Given the description of an element on the screen output the (x, y) to click on. 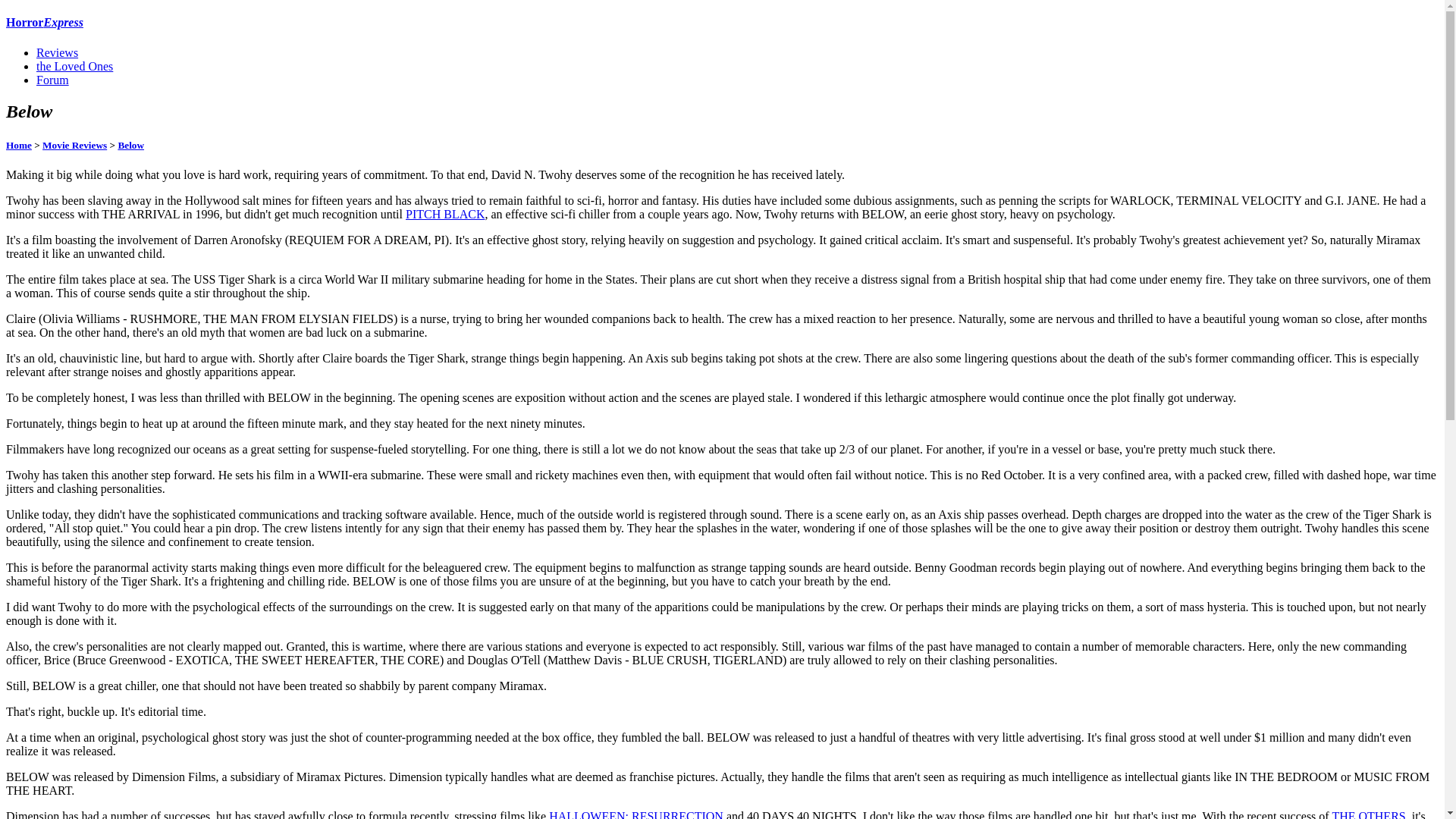
HALLOWEEN: RESURRECTION (635, 814)
Reviews (57, 51)
the Loved Ones (74, 65)
Forum (52, 79)
Movie Reviews (74, 144)
Below (130, 144)
THE OTHERS (1368, 814)
PITCH BLACK (445, 214)
HorrorExpress (43, 21)
Home (18, 144)
